Given the description of an element on the screen output the (x, y) to click on. 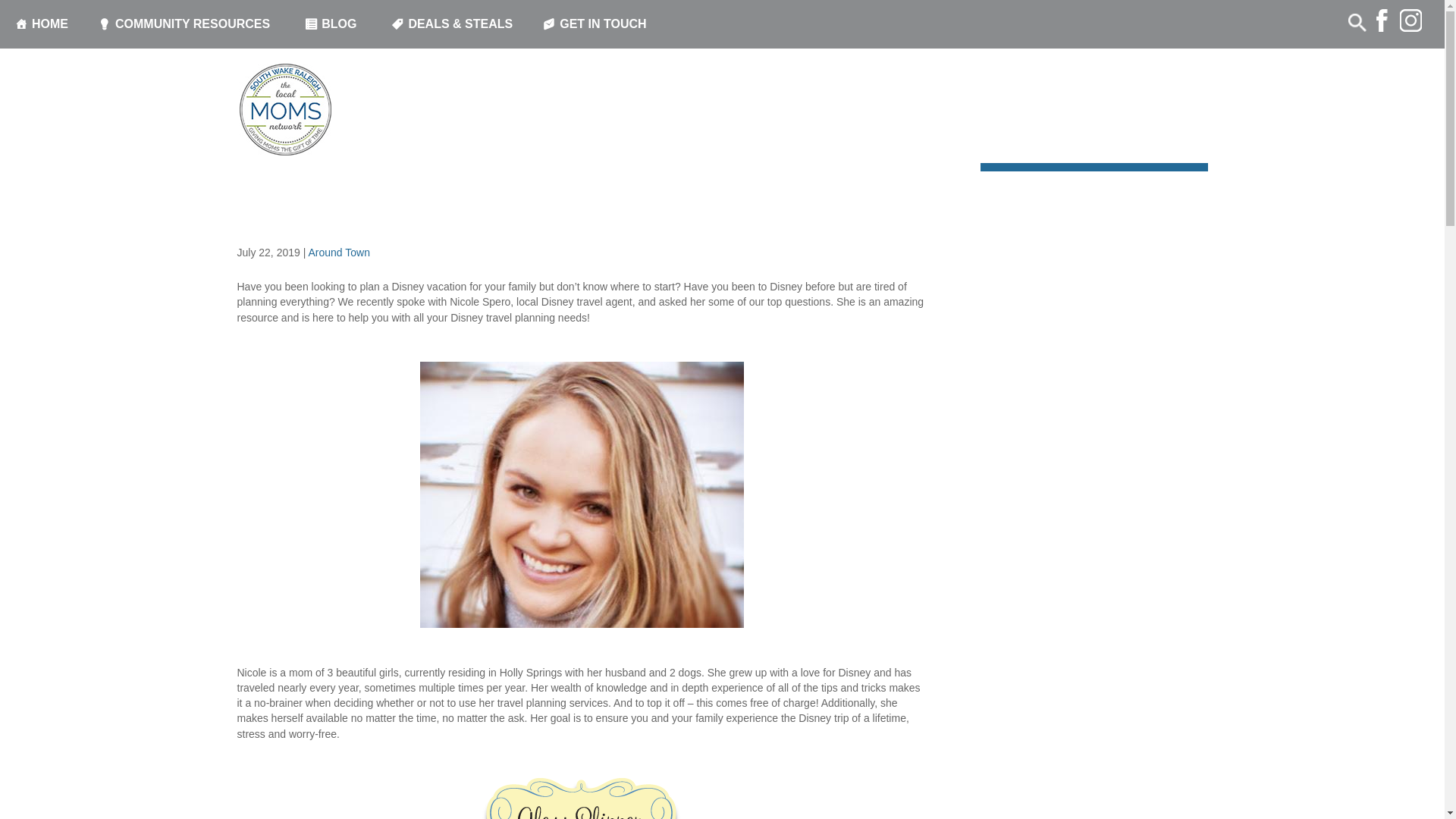
COMMUNITY RESOURCES (185, 24)
GET IN TOUCH (596, 24)
Blog (315, 148)
HOME (41, 24)
Search (34, 13)
Around Town (266, 148)
BLOG (332, 24)
Around Town (338, 252)
